Given the description of an element on the screen output the (x, y) to click on. 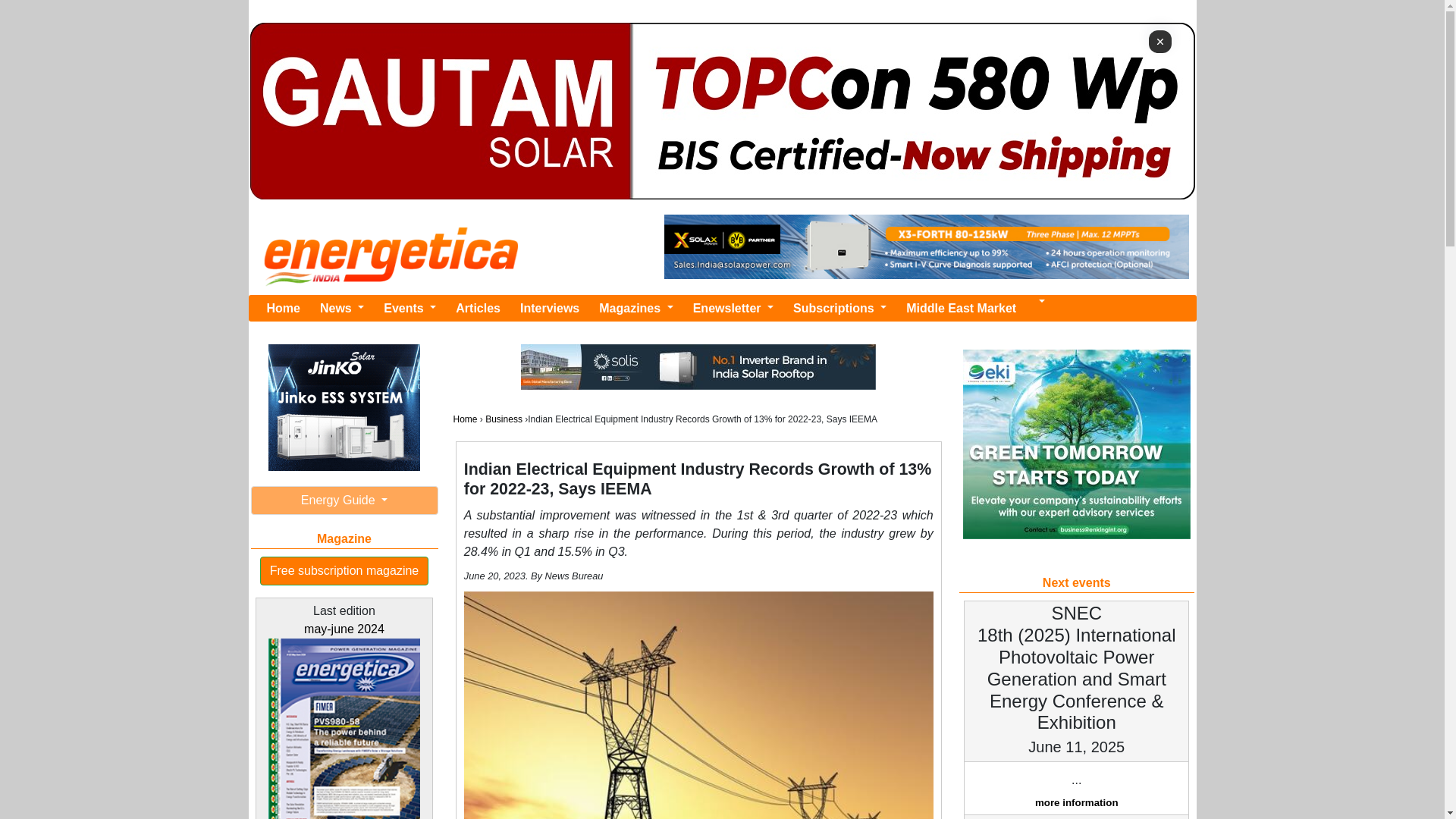
Home (282, 307)
News (341, 307)
Home Energetica India (282, 307)
